Given the description of an element on the screen output the (x, y) to click on. 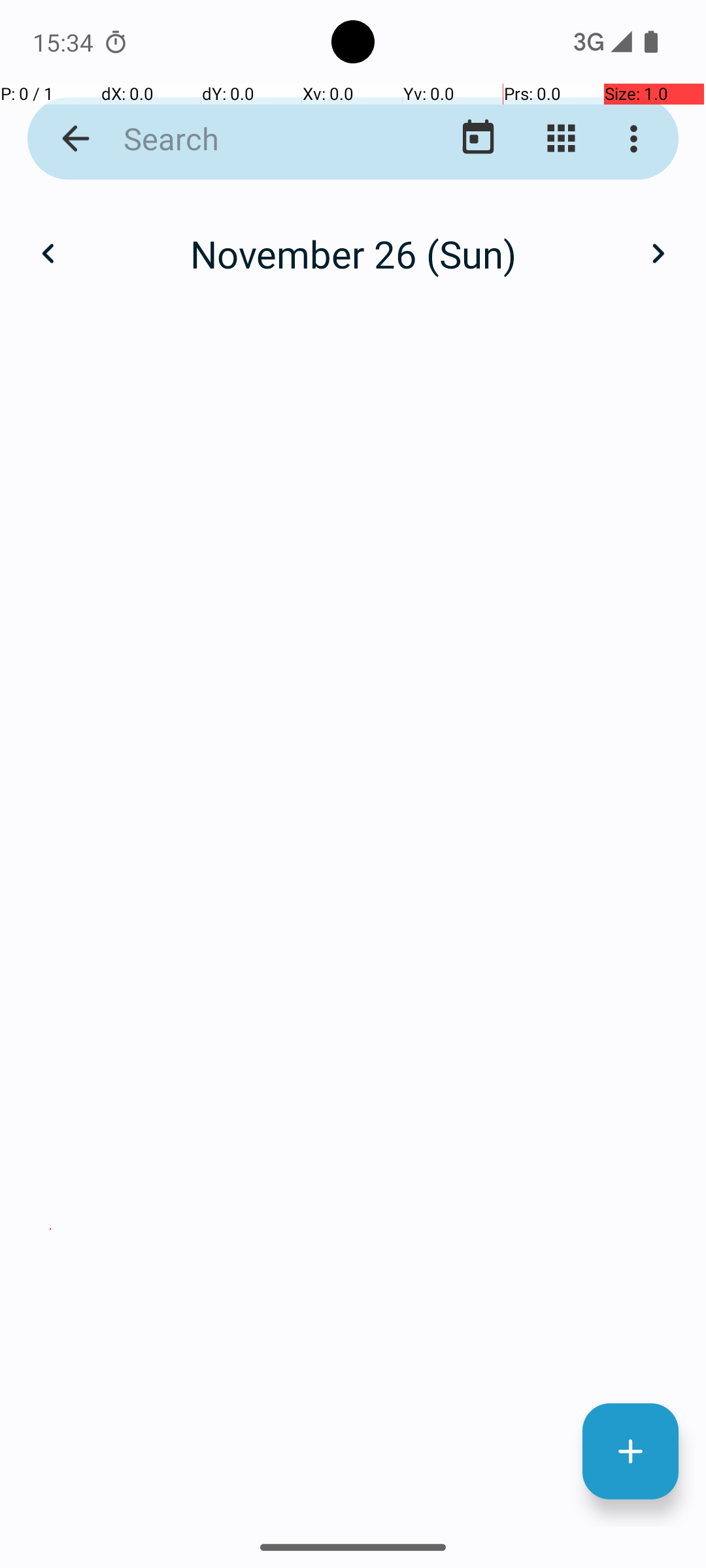
November Element type: android.widget.TextView (352, 239)
November 26 (Sun) Element type: android.widget.TextView (352, 253)
